Given the description of an element on the screen output the (x, y) to click on. 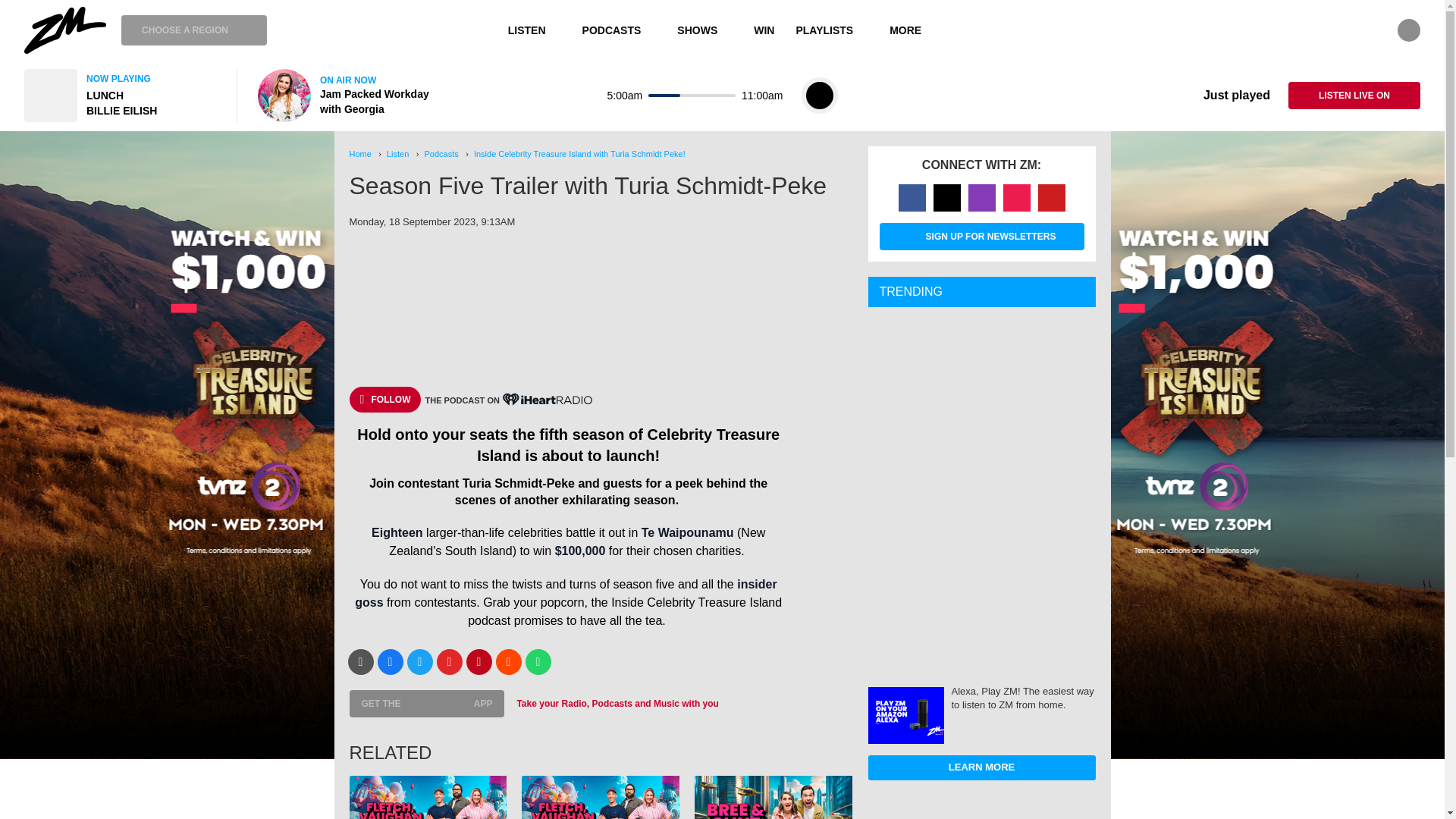
Listen to LUNCH by BILLIE EILISH (121, 95)
Share with pinterest (478, 661)
Share with whatsapp (537, 661)
Share with reddit (508, 661)
Share with email (359, 661)
Share with flipboard (449, 661)
LISTEN (534, 30)
Just played (1225, 95)
PODCASTS (619, 30)
CHOOSE A REGION (193, 30)
Share with twitter (419, 661)
ZM (65, 29)
Share with facebook (390, 661)
